Given the description of an element on the screen output the (x, y) to click on. 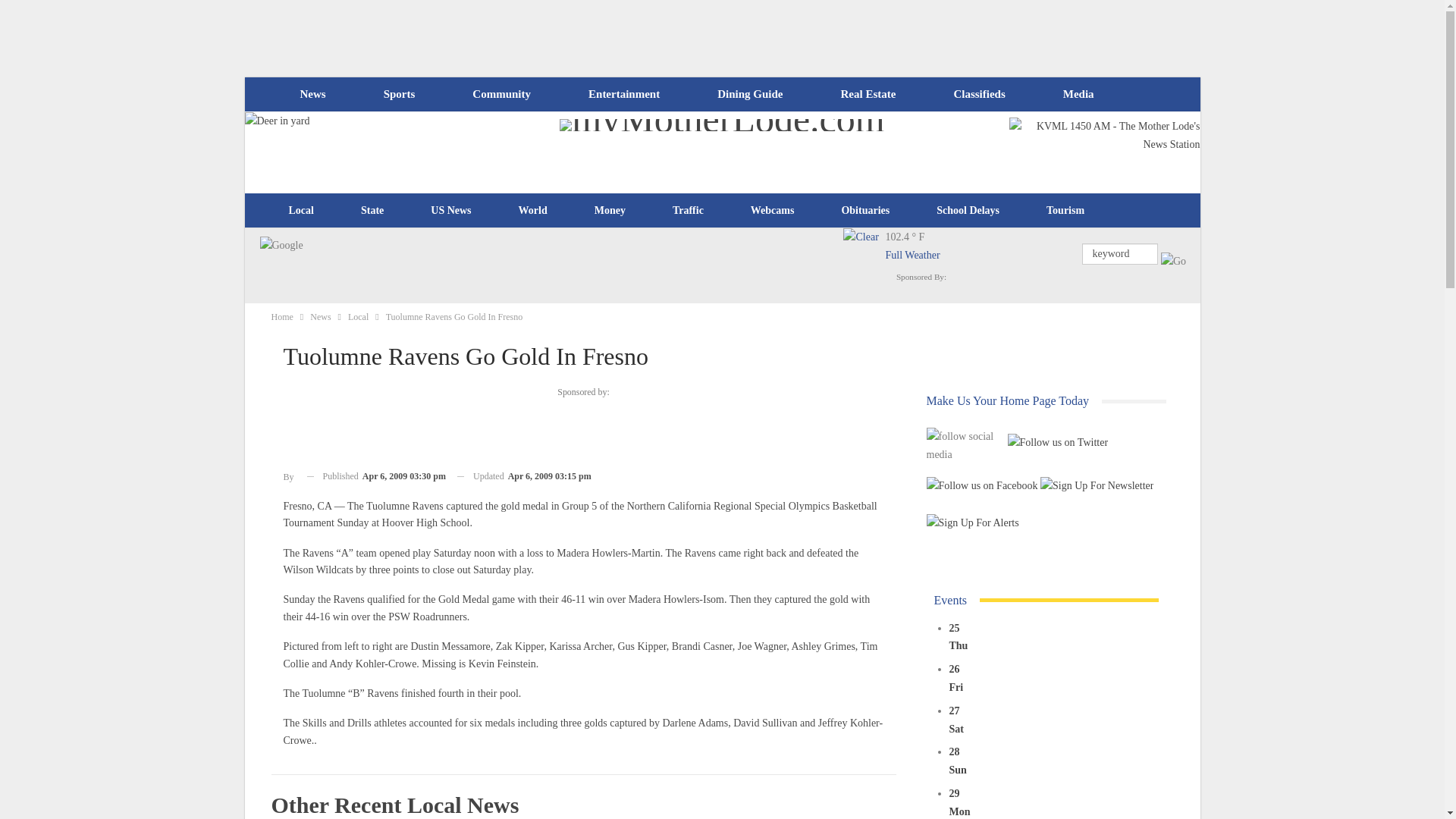
Community (501, 93)
Entertainment (624, 93)
Clear (864, 249)
keyword (1119, 253)
World (532, 210)
Media (1078, 93)
US News (451, 210)
Submit (1173, 261)
Local (300, 210)
State (372, 210)
Dining Guide (749, 93)
Classifieds (979, 93)
